Given the description of an element on the screen output the (x, y) to click on. 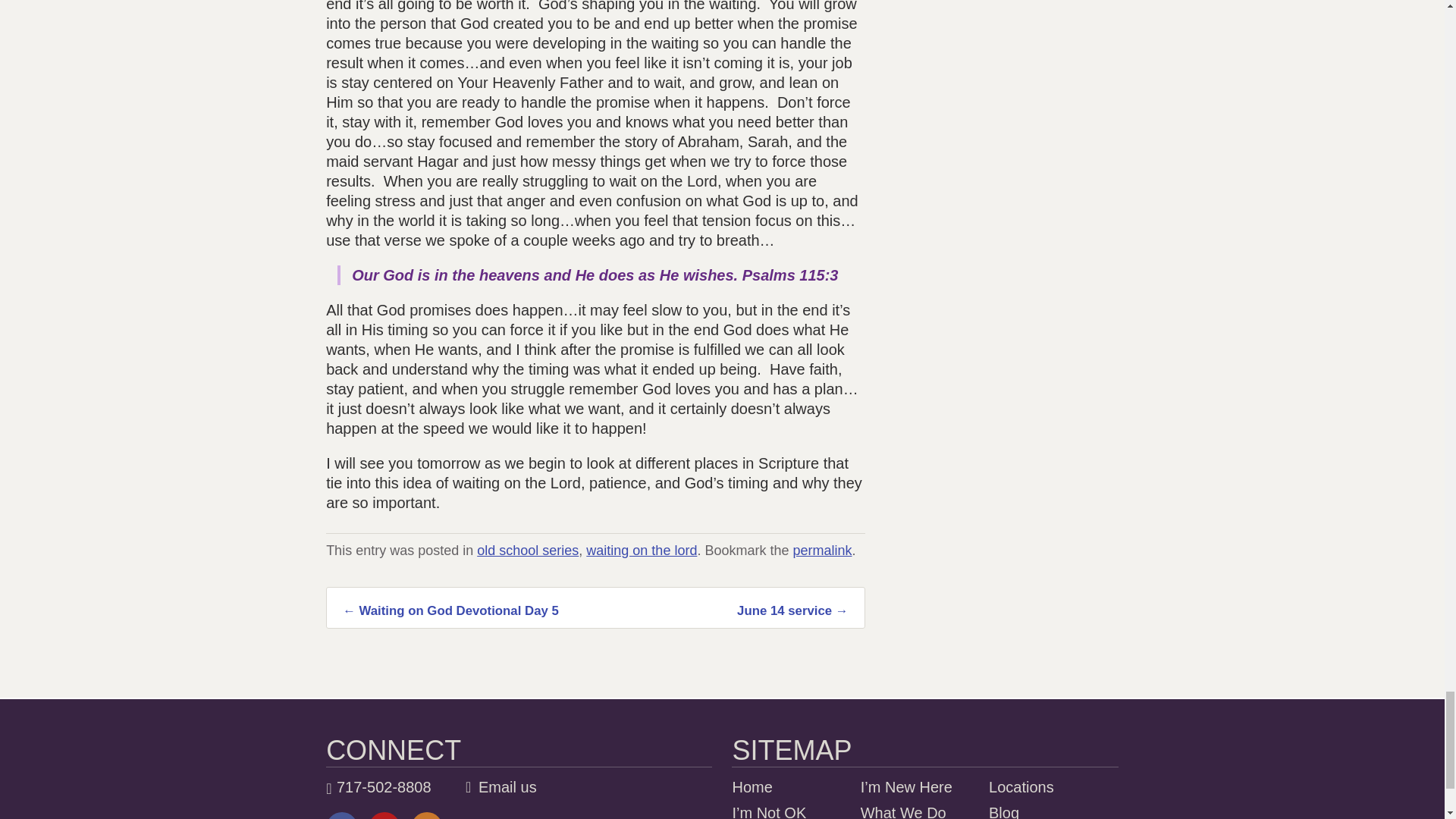
YouTube (384, 815)
permalink (821, 549)
Facebook (342, 815)
old school series (527, 549)
waiting on the lord (641, 549)
Instagram (426, 815)
